Given the description of an element on the screen output the (x, y) to click on. 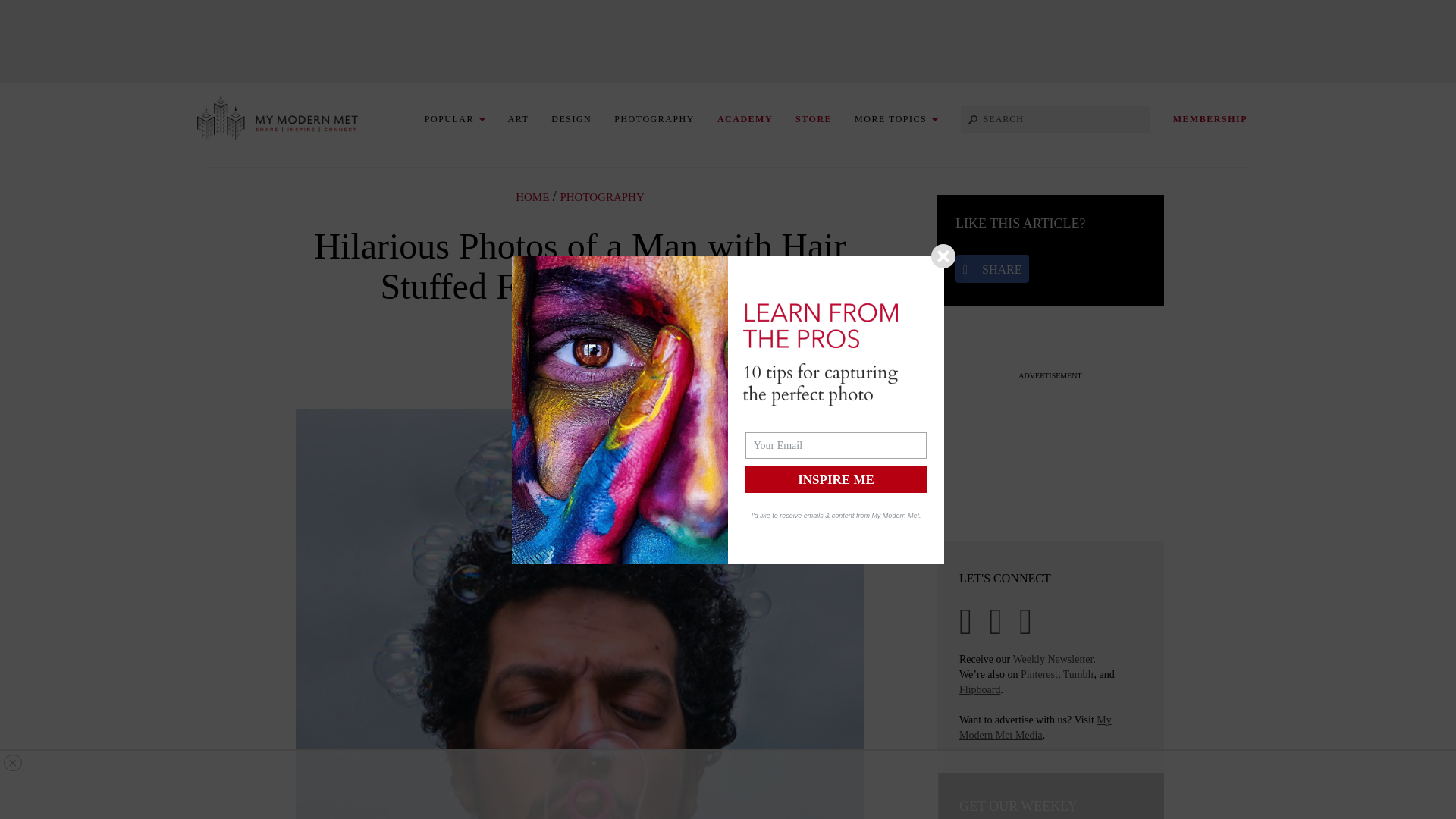
Close (943, 256)
Inspire Me (835, 479)
